Given the description of an element on the screen output the (x, y) to click on. 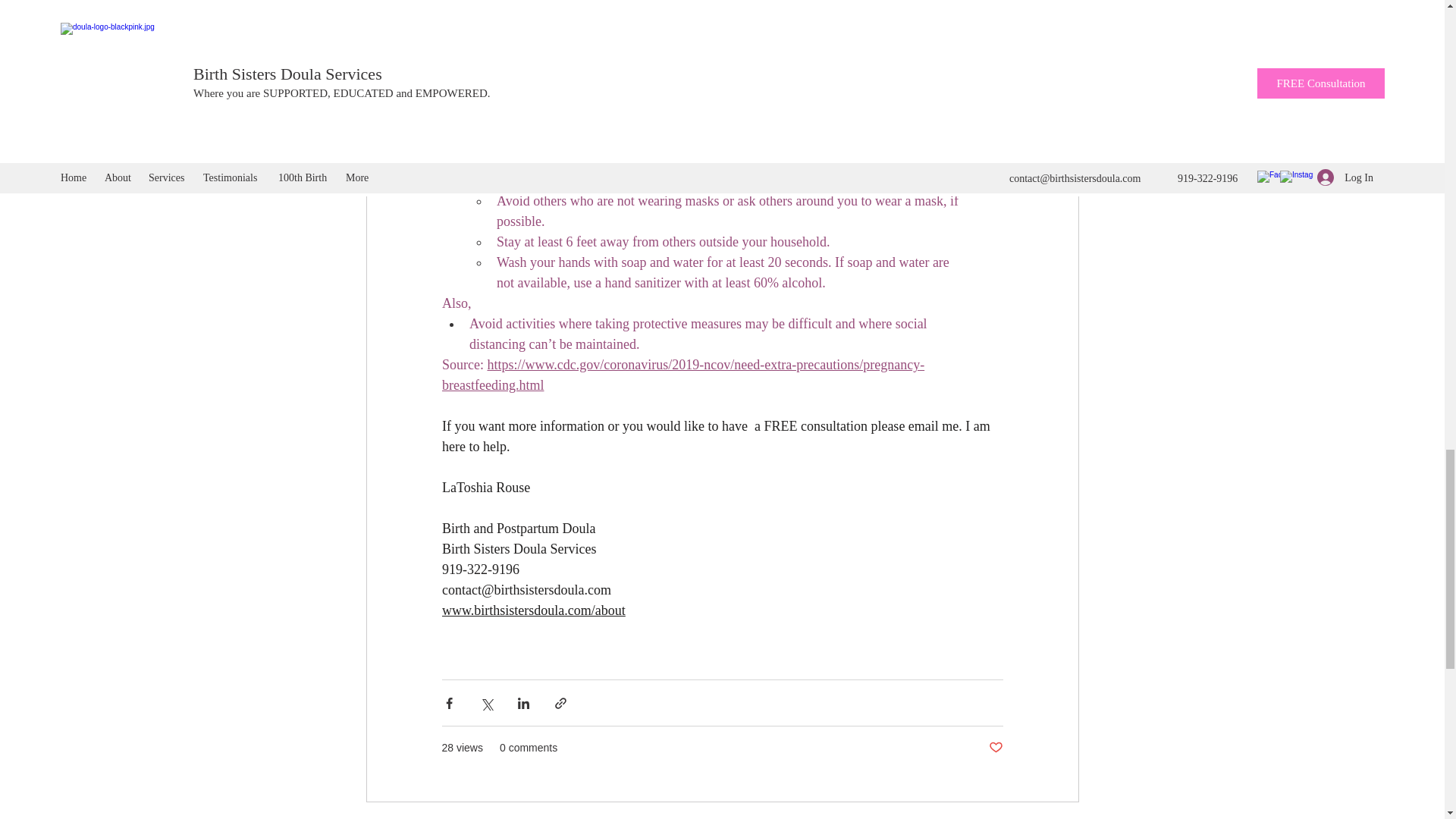
Post not marked as liked (995, 747)
preventive steps (535, 77)
